Given the description of an element on the screen output the (x, y) to click on. 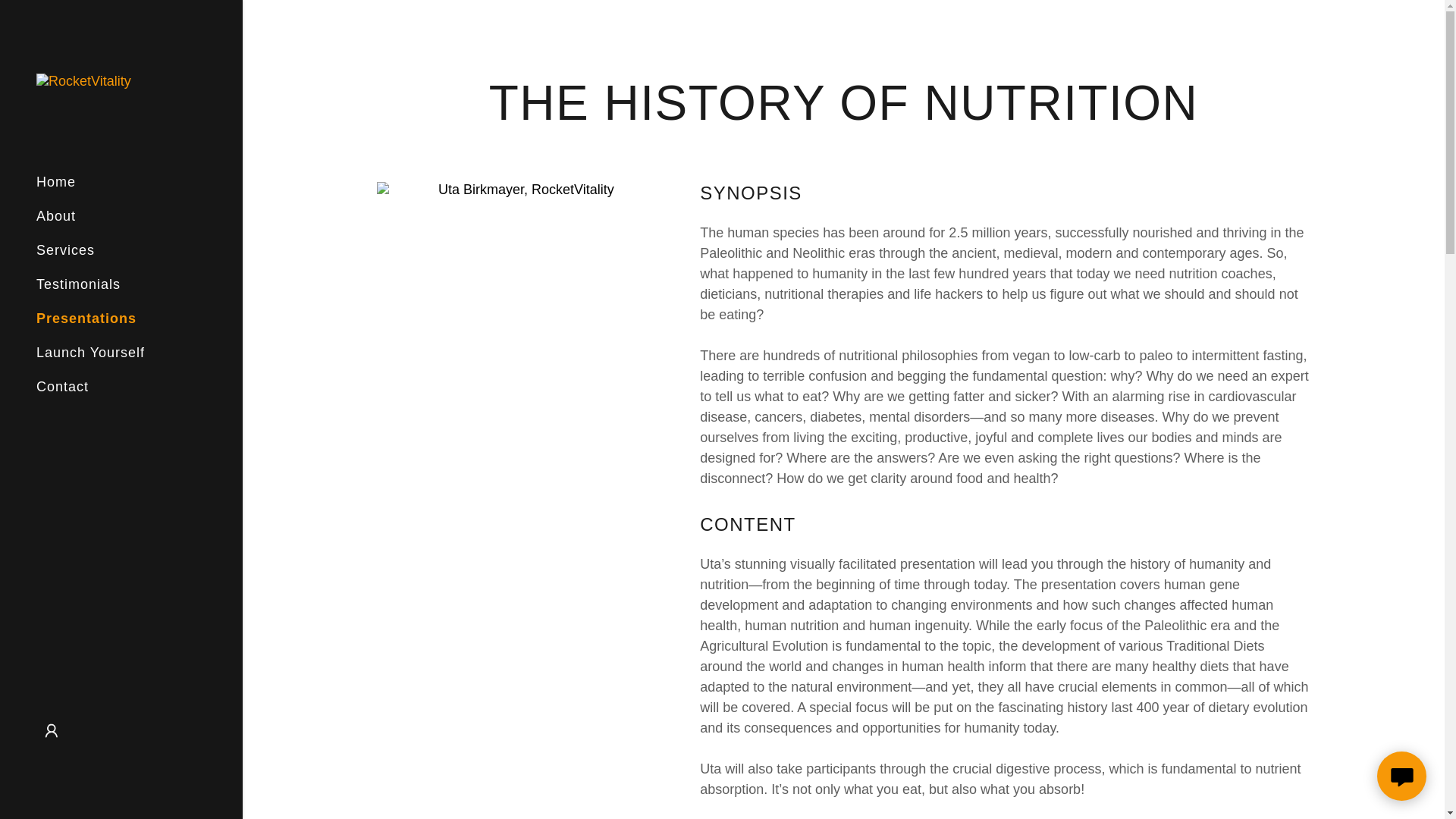
Testimonials (78, 283)
Contact (62, 386)
About (55, 215)
Launch Yourself (90, 352)
Home (55, 181)
Presentations (86, 318)
RocketVitality (83, 79)
Services (65, 249)
